Given the description of an element on the screen output the (x, y) to click on. 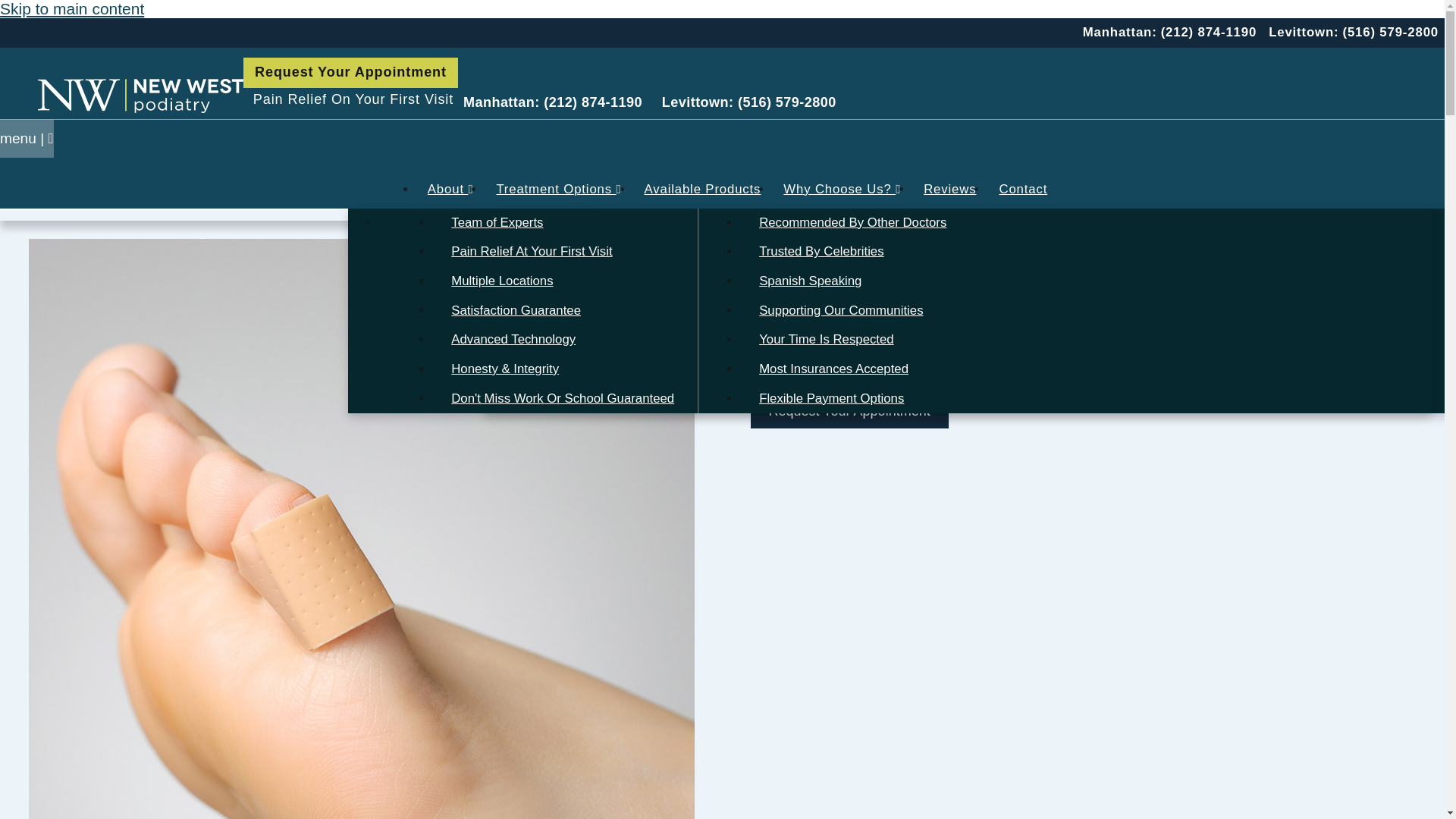
Request Your Appointment (350, 72)
Treatment Options (557, 188)
About (450, 188)
EPAT Therapy (633, 369)
Toenail Fungus (1027, 339)
Team of Experts (558, 223)
Dr. Venante Toussaint (522, 235)
Dr. Matthew Barkoff (517, 216)
Sports Injuries (1027, 281)
Wound Care (1027, 369)
